Given the description of an element on the screen output the (x, y) to click on. 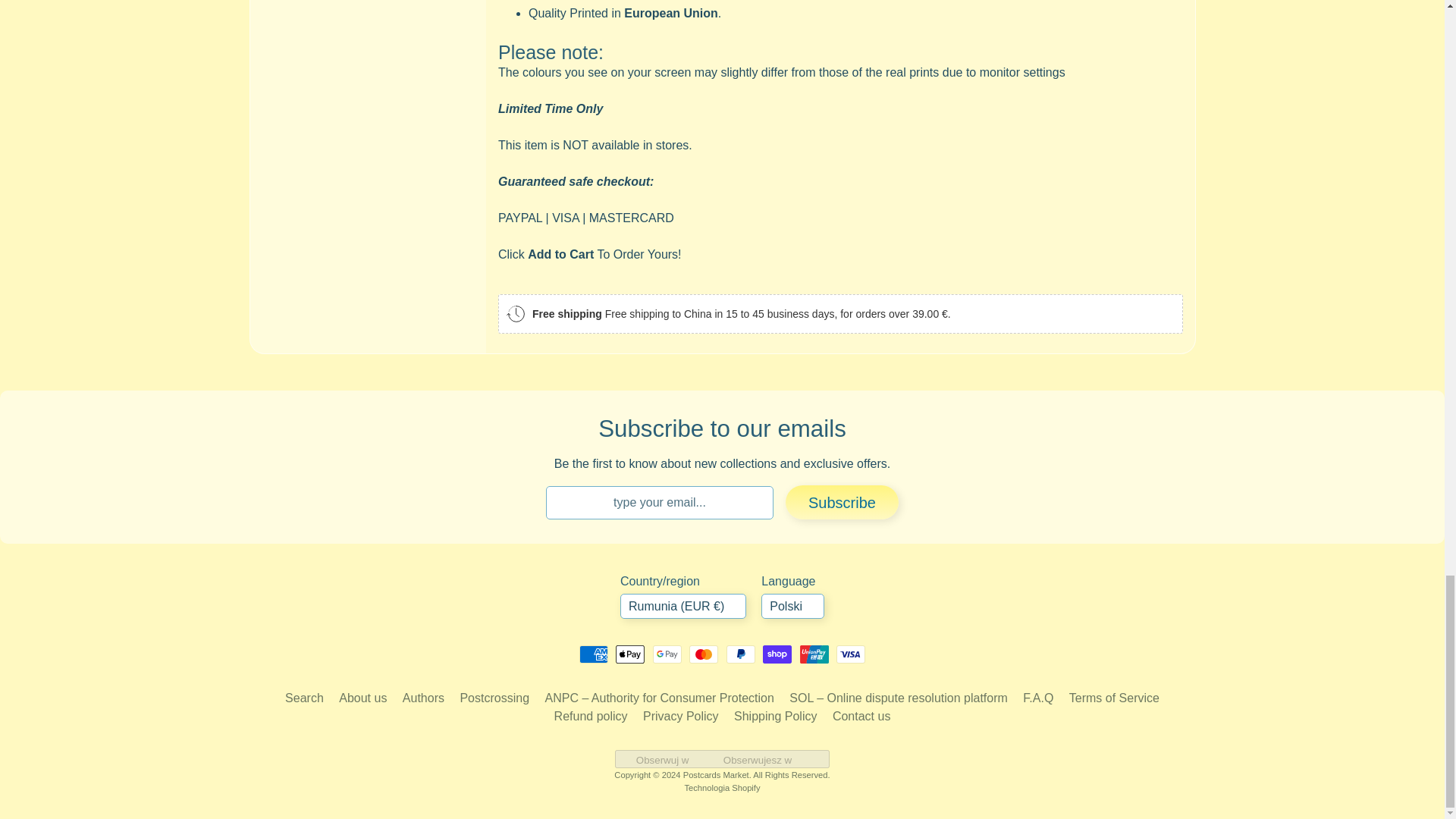
Visa (849, 654)
Union Pay (813, 654)
Shop Pay (777, 654)
Apple Pay (630, 654)
PayPal (740, 654)
Google Pay (666, 654)
American Express (593, 654)
Mastercard (702, 654)
